Given the description of an element on the screen output the (x, y) to click on. 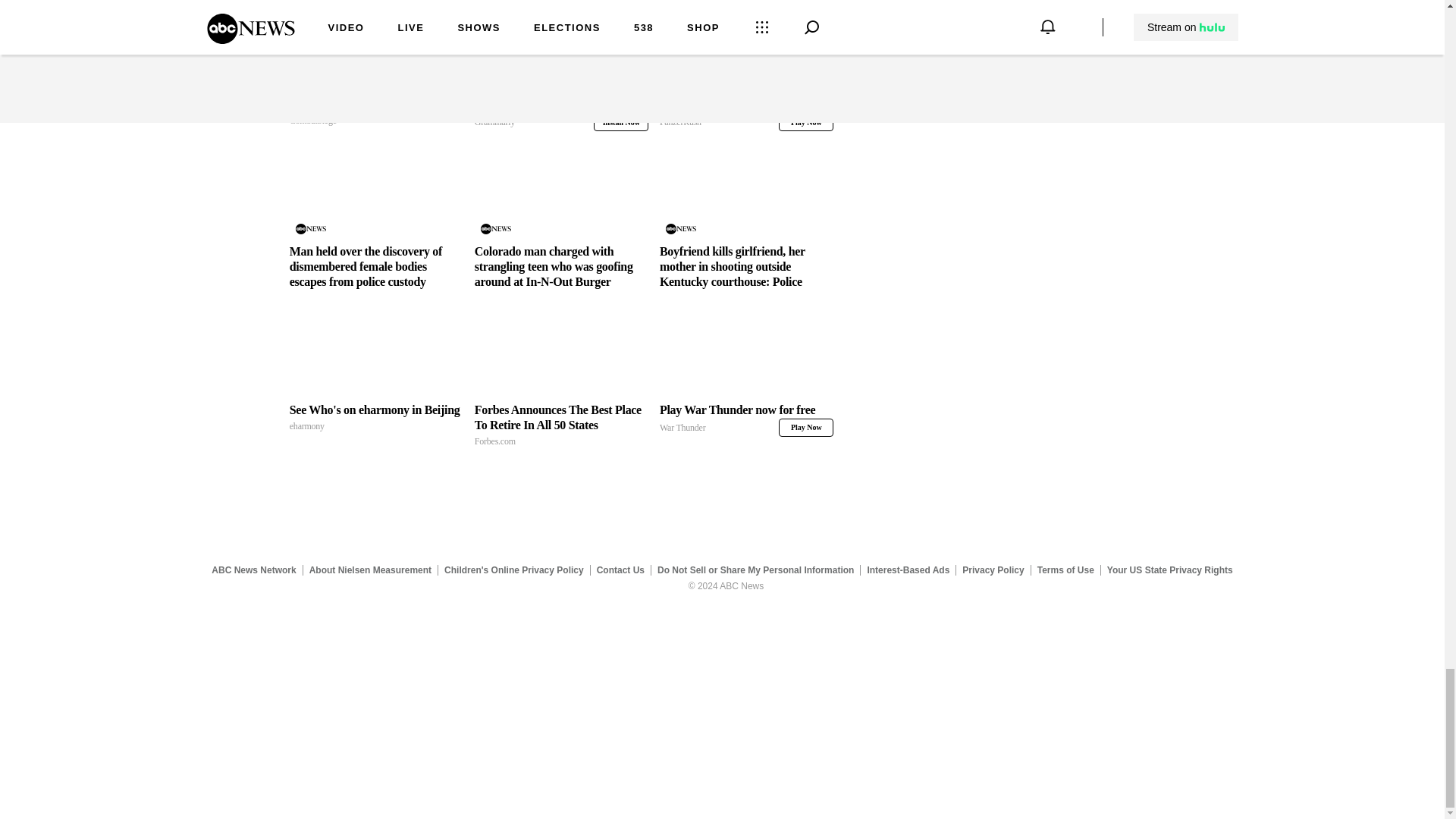
You Can Win At Work With This World-Class Writing App (560, 38)
Play War Thunder now for free (745, 419)
Play Now (805, 122)
Install Now (620, 122)
